Given the description of an element on the screen output the (x, y) to click on. 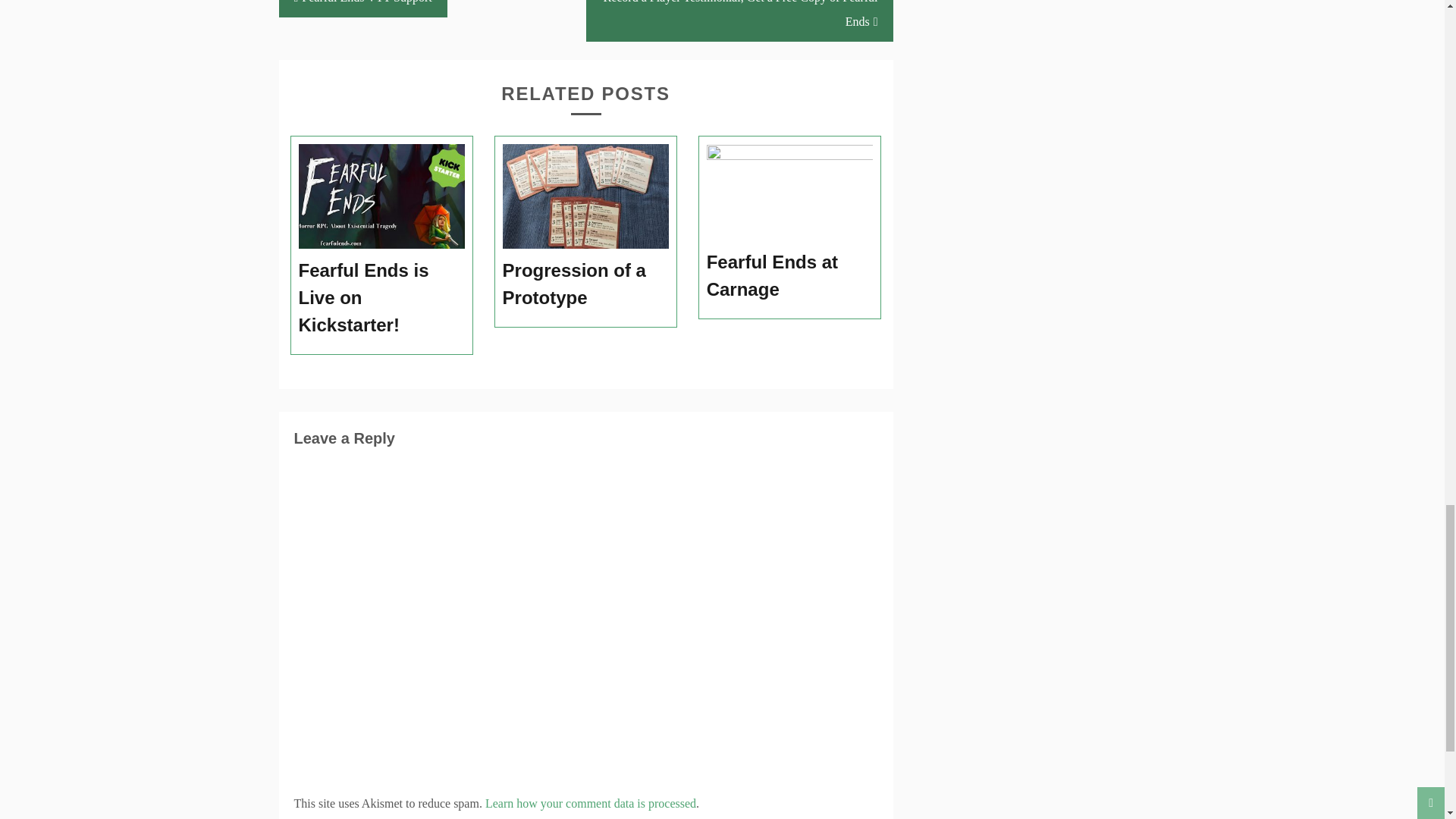
Fearful Ends is Live on Kickstarter! (381, 298)
Progression of a Prototype (585, 284)
Fearful Ends at Carnage (789, 275)
Record a Player Testimonial, Get a Free Copy of Fearful Ends (738, 20)
Learn how your comment data is processed (589, 802)
Fearful Ends VTT Support (362, 8)
